Given the description of an element on the screen output the (x, y) to click on. 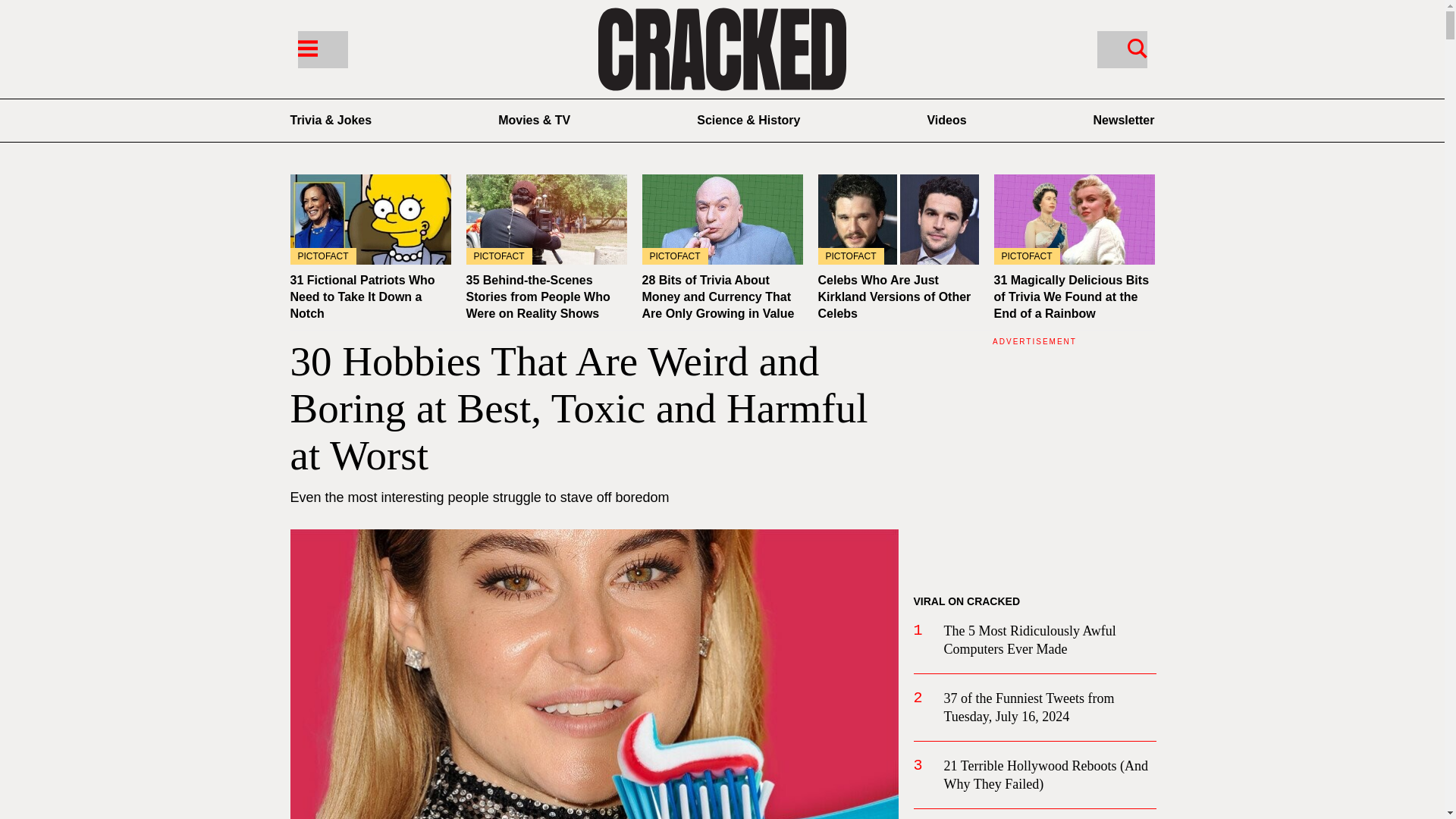
Videos (946, 119)
Menu (322, 48)
PICTOFACT (1073, 219)
Newsletter (1123, 119)
PICTOFACT (545, 219)
Cracked Newsletter (1123, 119)
PICTOFACT (897, 219)
PICTOFACT (369, 219)
31 Fictional Patriots Who Need to Take It Down a Notch (369, 219)
31 Fictional Patriots Who Need to Take It Down a Notch (361, 296)
Celebs Who Are Just Kirkland Versions of Other Celebs (893, 296)
Menu (307, 47)
Search (1136, 47)
Search (1121, 48)
